Given the description of an element on the screen output the (x, y) to click on. 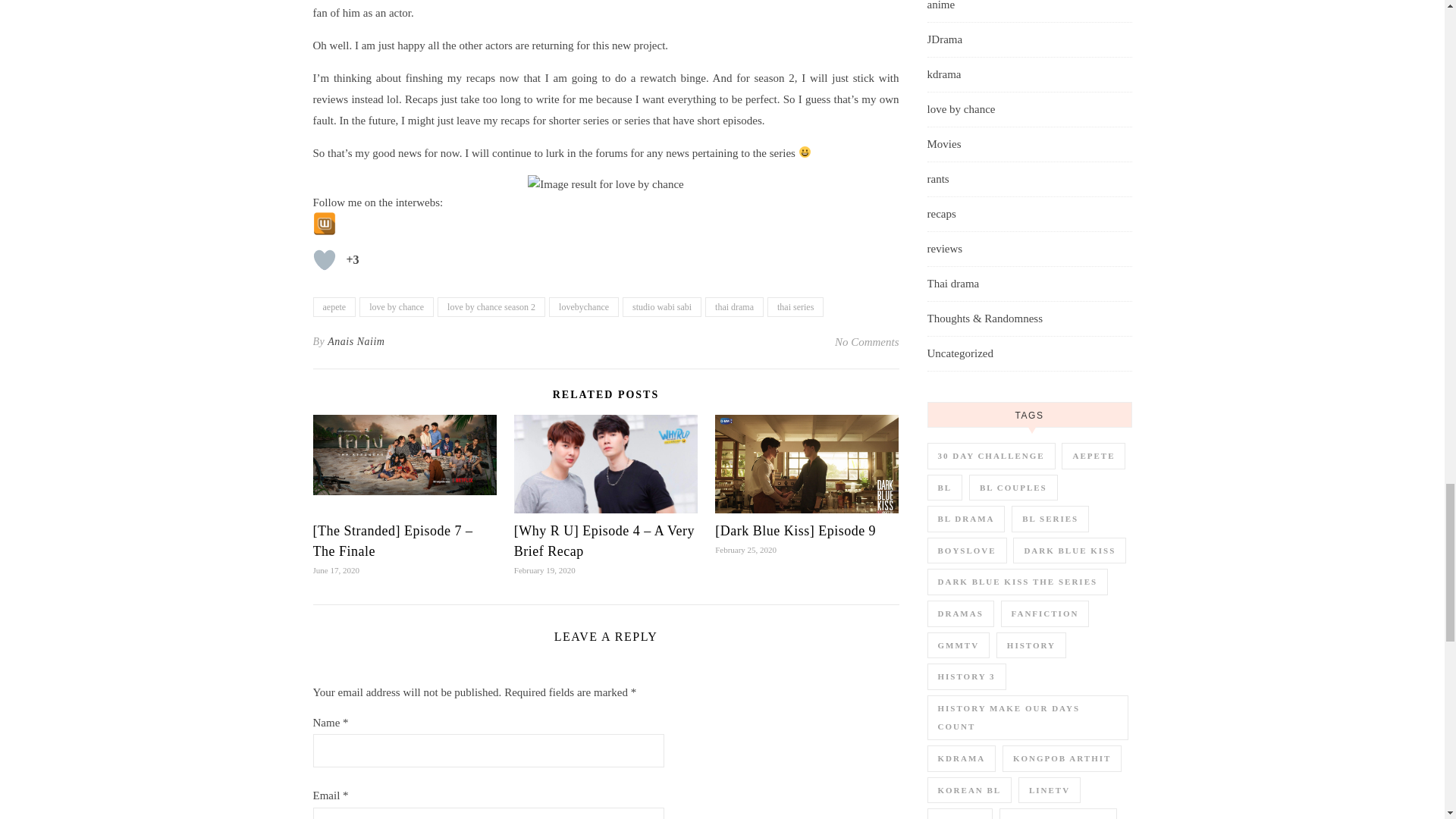
Wattpad (323, 223)
Posts by Anais Naiim (355, 341)
